Given the description of an element on the screen output the (x, y) to click on. 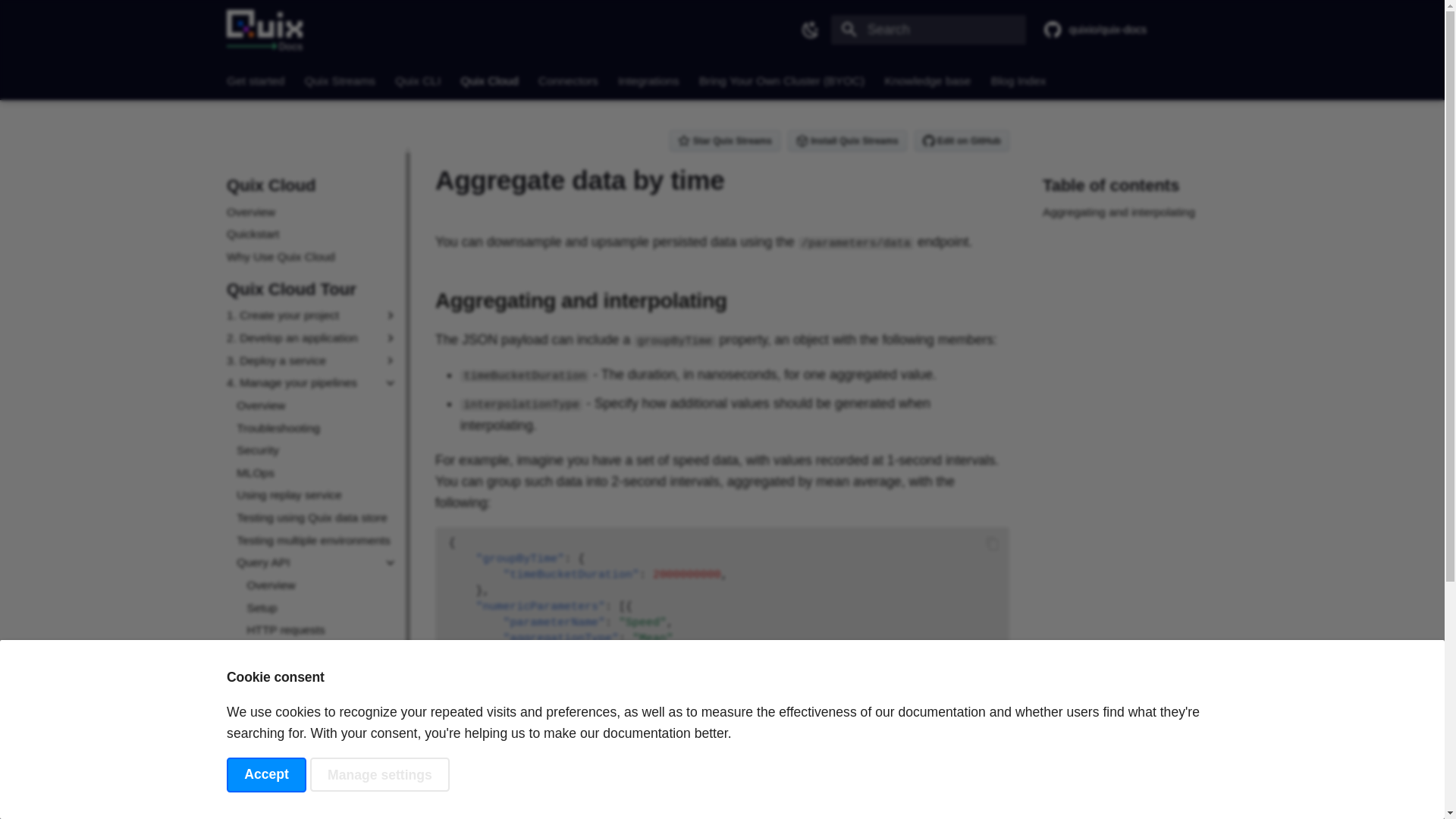
Blog Index (1018, 80)
Switch to dark mode (810, 29)
Quix Streams (339, 80)
Copy to clipboard (992, 542)
Connectors (568, 80)
Quix Cloud (489, 80)
Integrations (647, 80)
Knowledge base (927, 80)
Copy to clipboard (992, 795)
Go to repository (1129, 29)
